Given the description of an element on the screen output the (x, y) to click on. 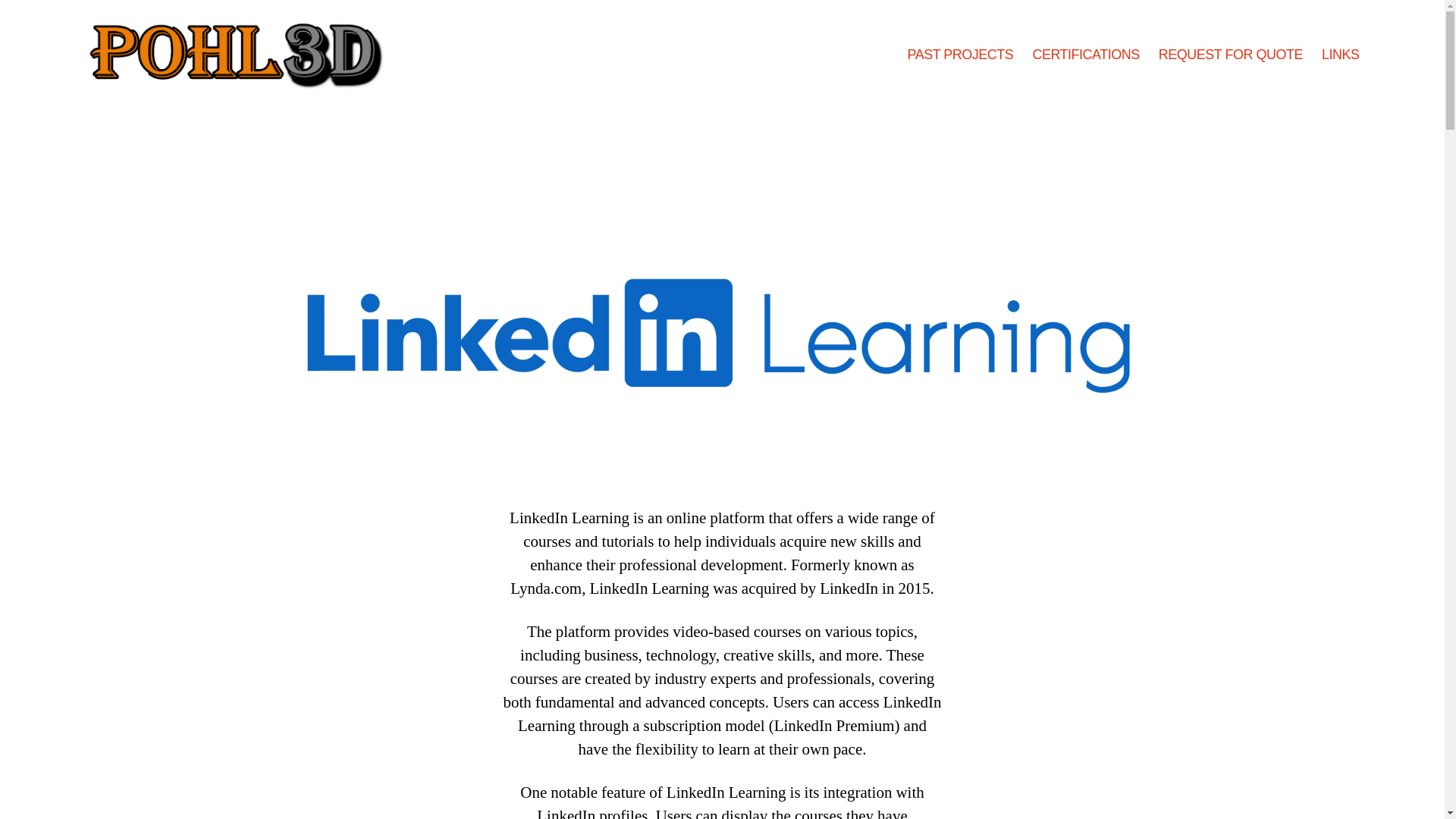
PAST PROJECTS (960, 54)
REQUEST FOR QUOTE (1230, 54)
CERTIFICATIONS (1085, 54)
LINKS (1340, 54)
